Given the description of an element on the screen output the (x, y) to click on. 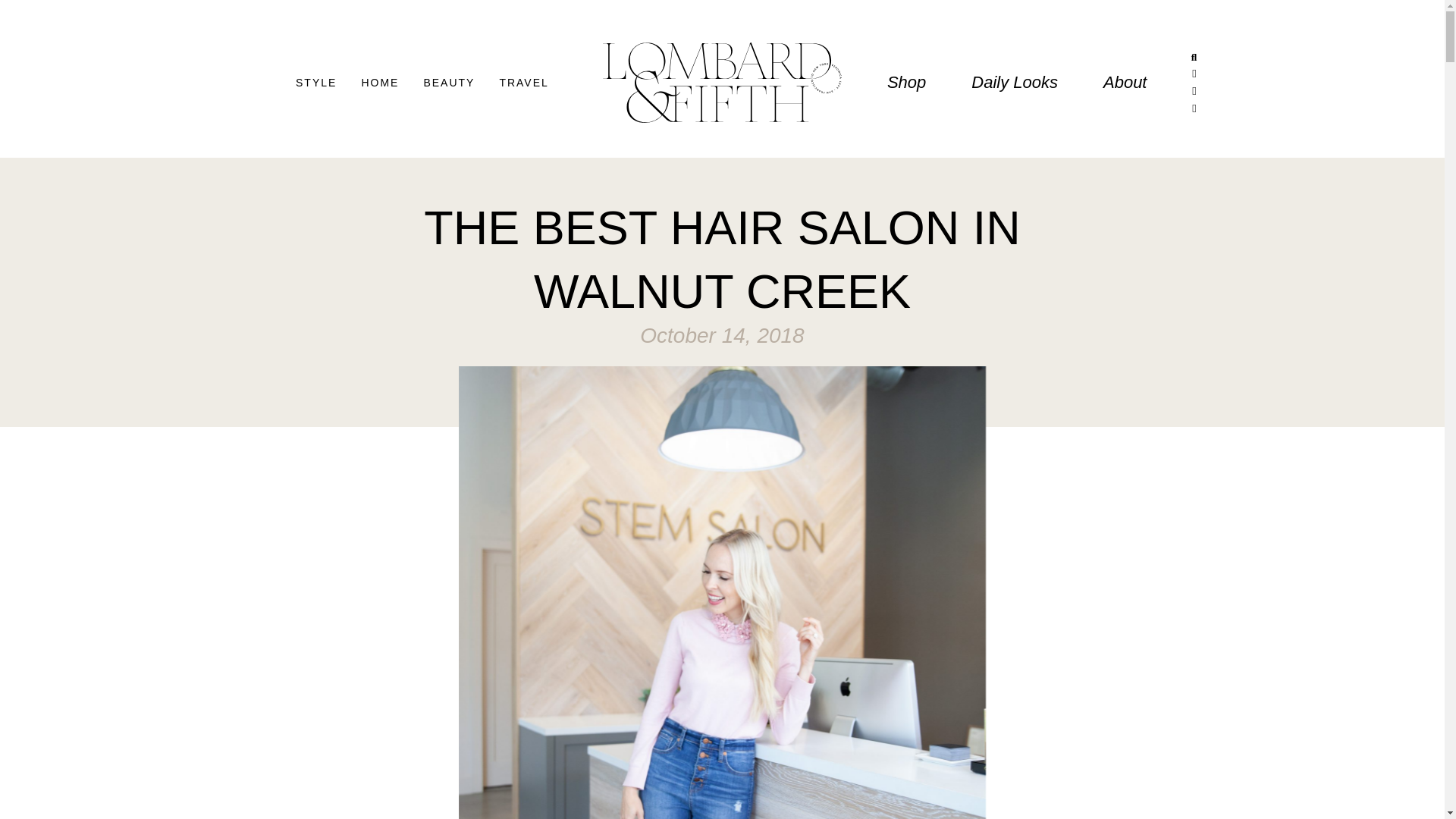
STYLE (320, 82)
HOME (383, 82)
BEAUTY (453, 82)
